Given the description of an element on the screen output the (x, y) to click on. 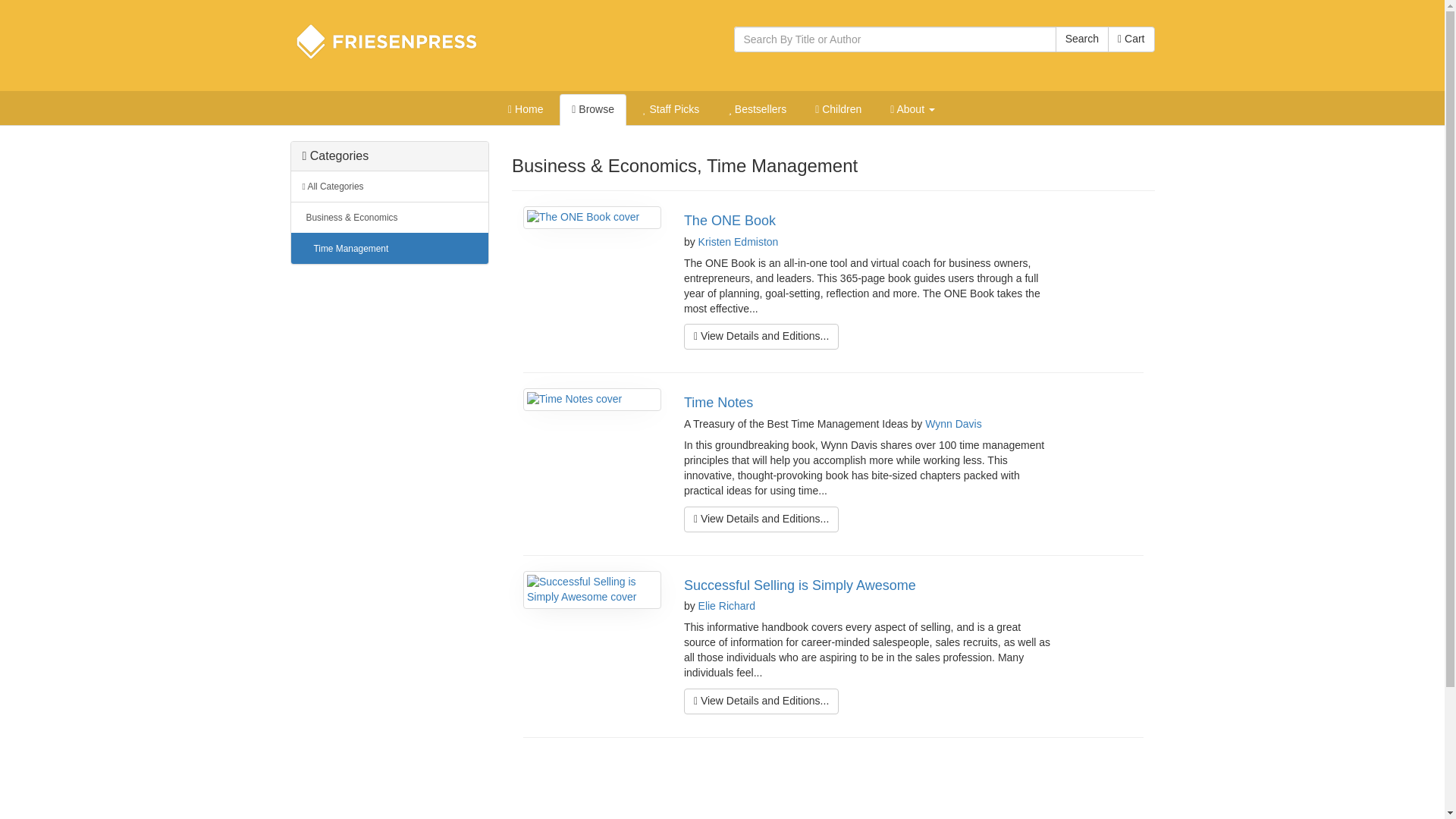
Kristen Edmiston (738, 241)
Search (1081, 39)
Elie Richard (726, 605)
View Details and Editions... (761, 336)
Time Notes (718, 402)
Cart (1131, 39)
Wynn Davis (952, 423)
FriesenPress (395, 41)
The ONE Book (730, 220)
Time Management (390, 247)
